Given the description of an element on the screen output the (x, y) to click on. 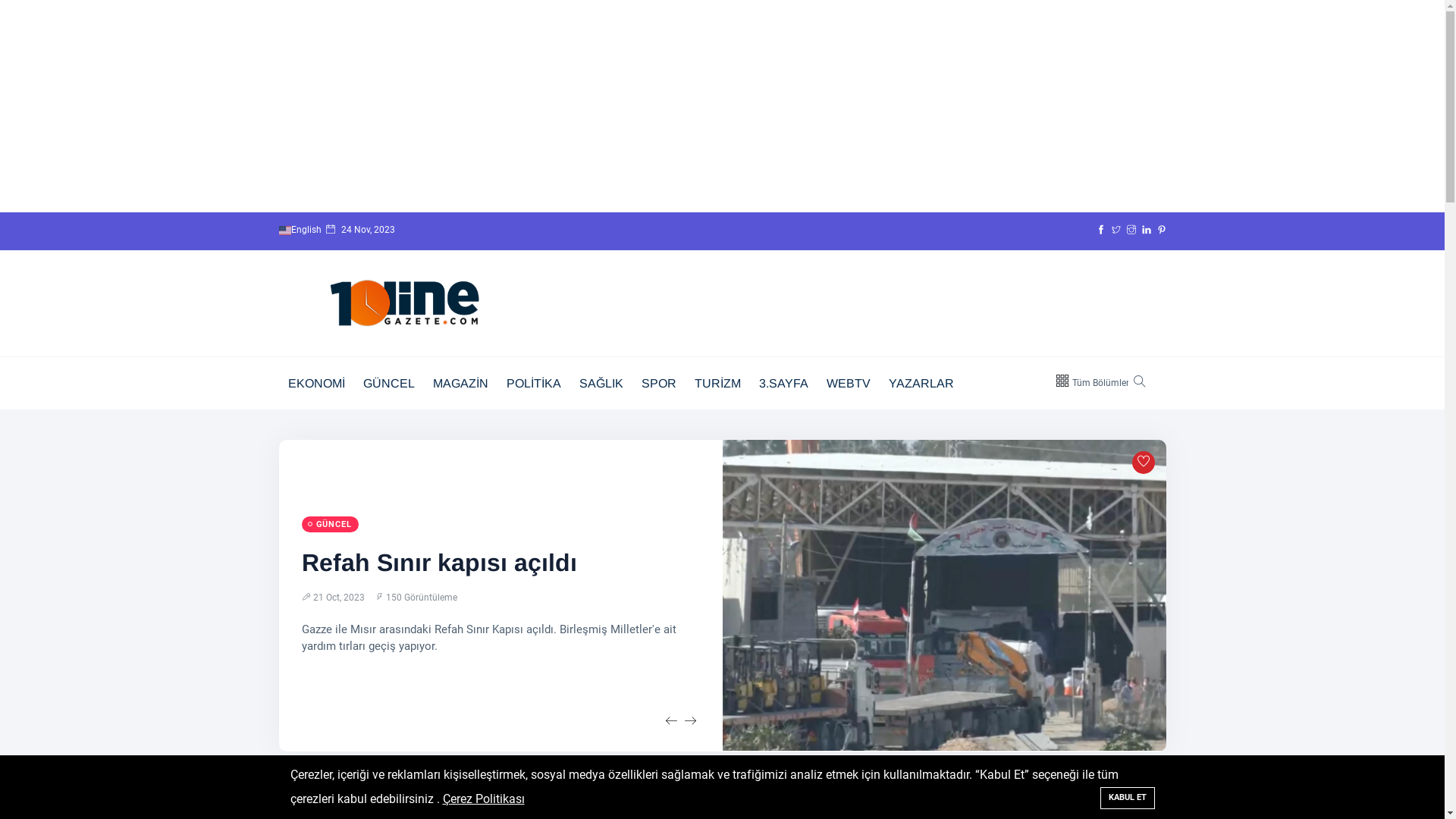
Twitter Element type: hover (1115, 229)
SPOR Element type: text (658, 383)
English   Element type: text (302, 229)
24 Nov, 2023 Element type: text (360, 228)
Facebook Element type: hover (1100, 229)
Pinterest Element type: hover (1161, 229)
WEBTV Element type: text (848, 383)
EKONOMI Element type: text (316, 383)
Linkedin Element type: hover (1146, 229)
KABUL ET Element type: text (1126, 798)
3.SAYFA Element type: text (782, 383)
POLITIKA Element type: text (533, 383)
Instagram Element type: hover (1130, 229)
YAZARLAR Element type: text (921, 383)
English Element type: hover (285, 230)
MAGAZIN Element type: text (459, 383)
Advertisement Element type: hover (455, 106)
TURIZM Element type: text (717, 383)
